Given the description of an element on the screen output the (x, y) to click on. 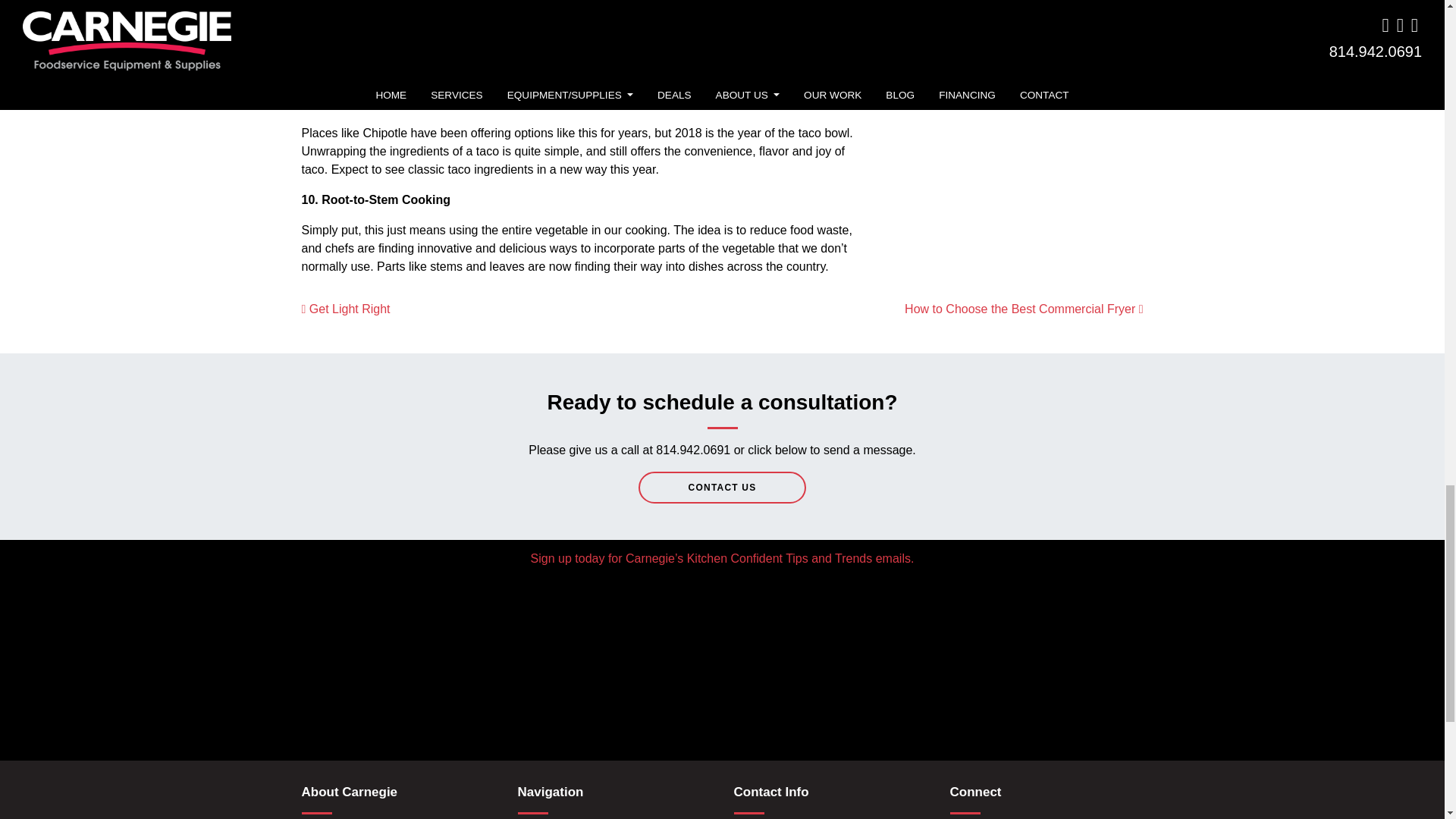
 Get Light Right (345, 308)
How to Choose the Best Commercial Fryer  (1023, 308)
CONTACT US (722, 487)
